Given the description of an element on the screen output the (x, y) to click on. 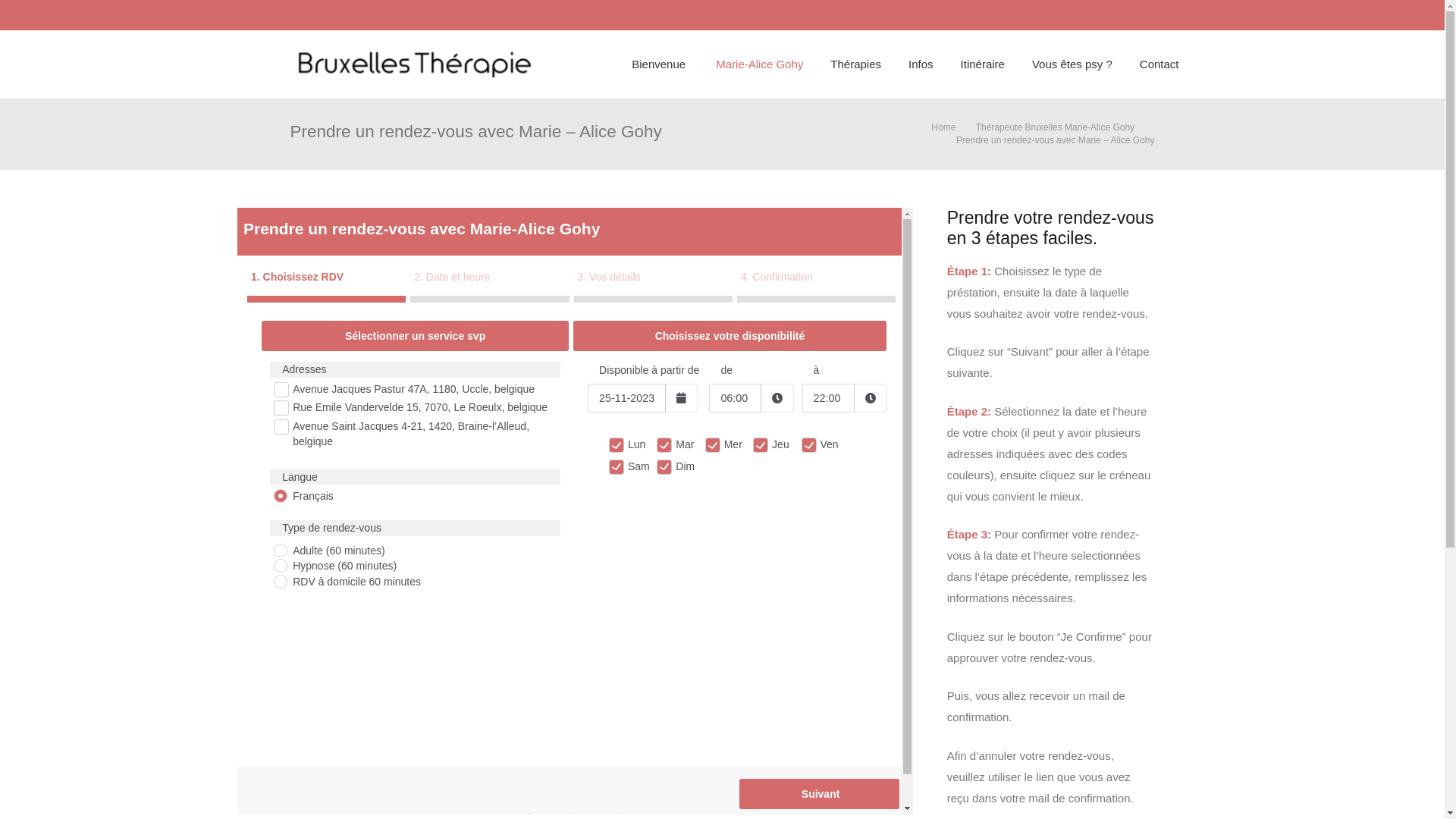
Infos Element type: text (920, 64)
Bienvenue  Element type: text (660, 64)
Home Element type: text (943, 127)
Contact Element type: text (1159, 64)
Marie-Alice Gohy Element type: text (759, 64)
